Given the description of an element on the screen output the (x, y) to click on. 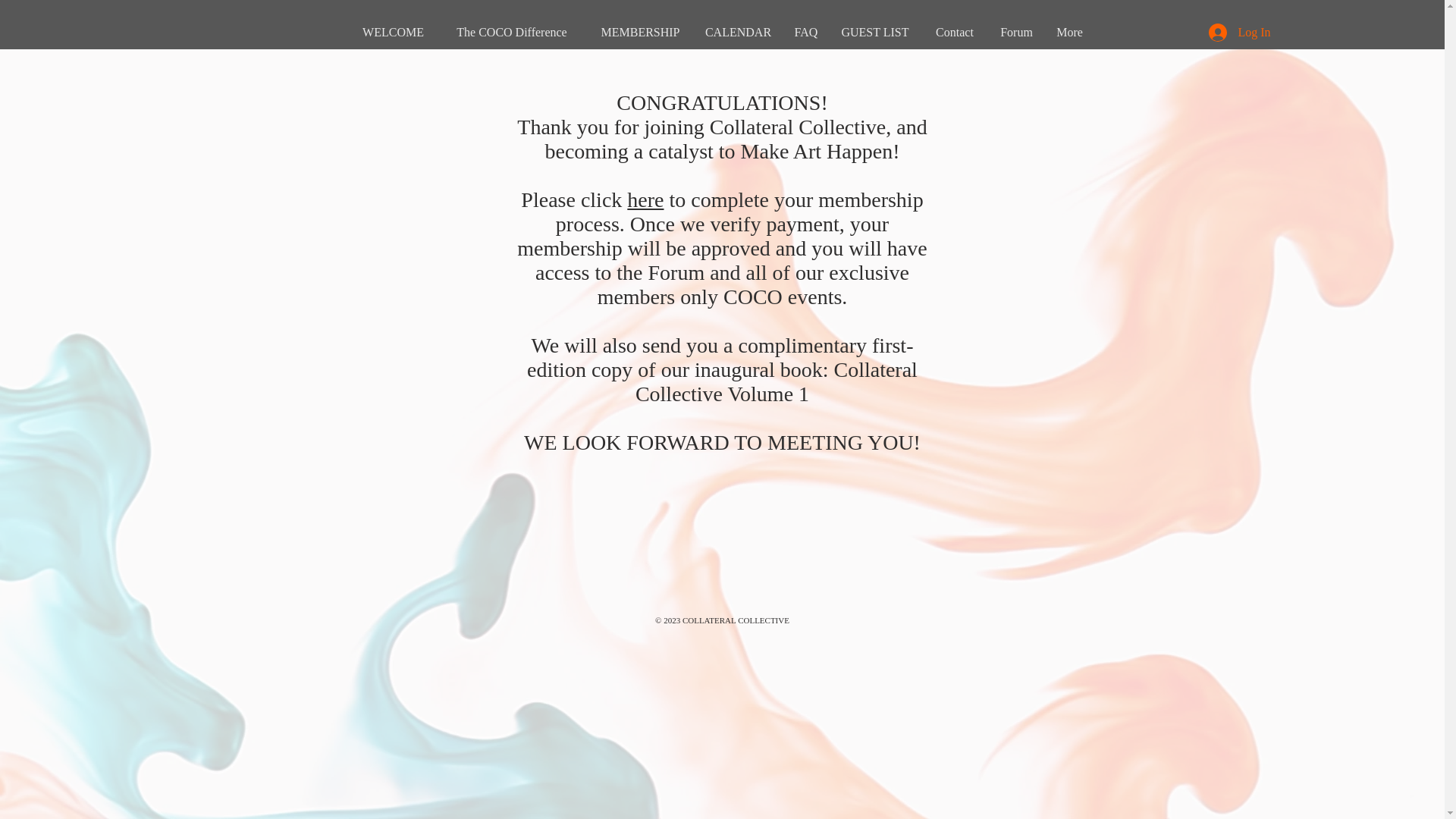
CALENDAR (738, 32)
WELCOME (392, 32)
MEMBERSHIP (640, 32)
here (645, 199)
GUEST LIST (874, 32)
Log In (1239, 31)
Contact (954, 32)
Forum (1016, 32)
FAQ (806, 32)
The COCO Difference (511, 32)
